Given the description of an element on the screen output the (x, y) to click on. 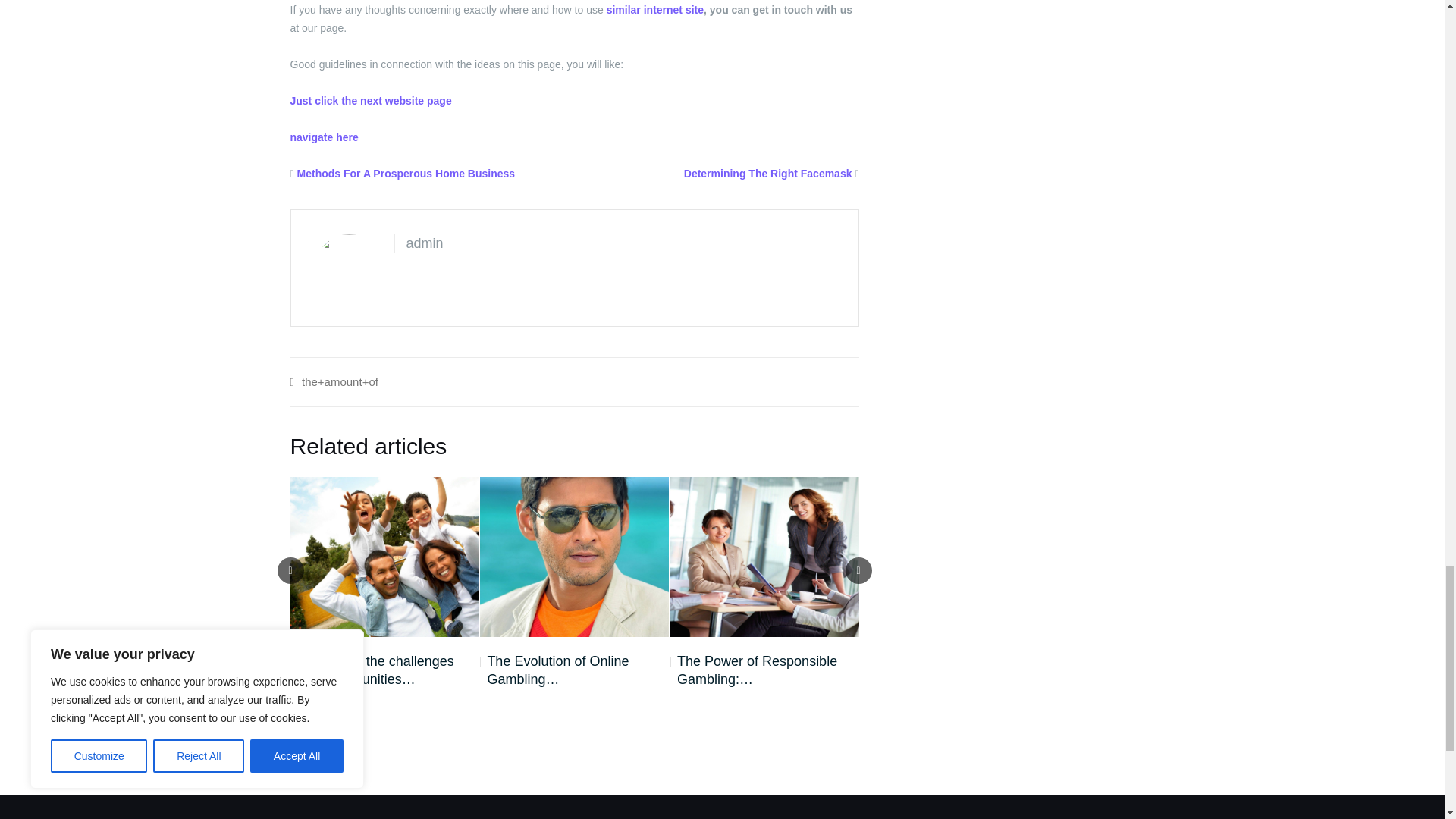
Determining The Right Facemask (767, 173)
Just click the next website page (370, 101)
navigate here (323, 137)
similar internet site (655, 9)
Methods For A Prosperous Home Business (406, 173)
